Given the description of an element on the screen output the (x, y) to click on. 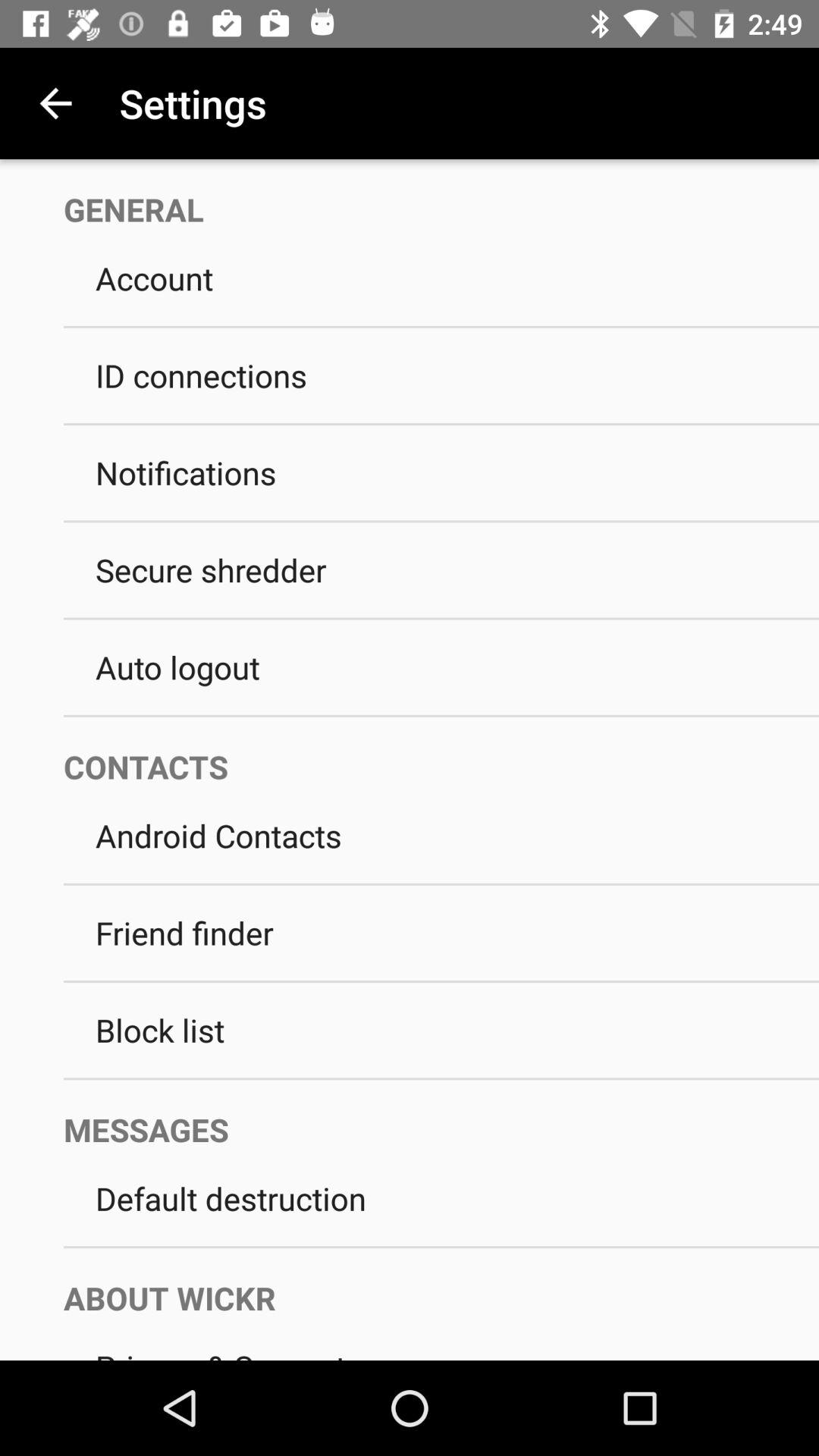
launch icon above friend finder icon (441, 884)
